Given the description of an element on the screen output the (x, y) to click on. 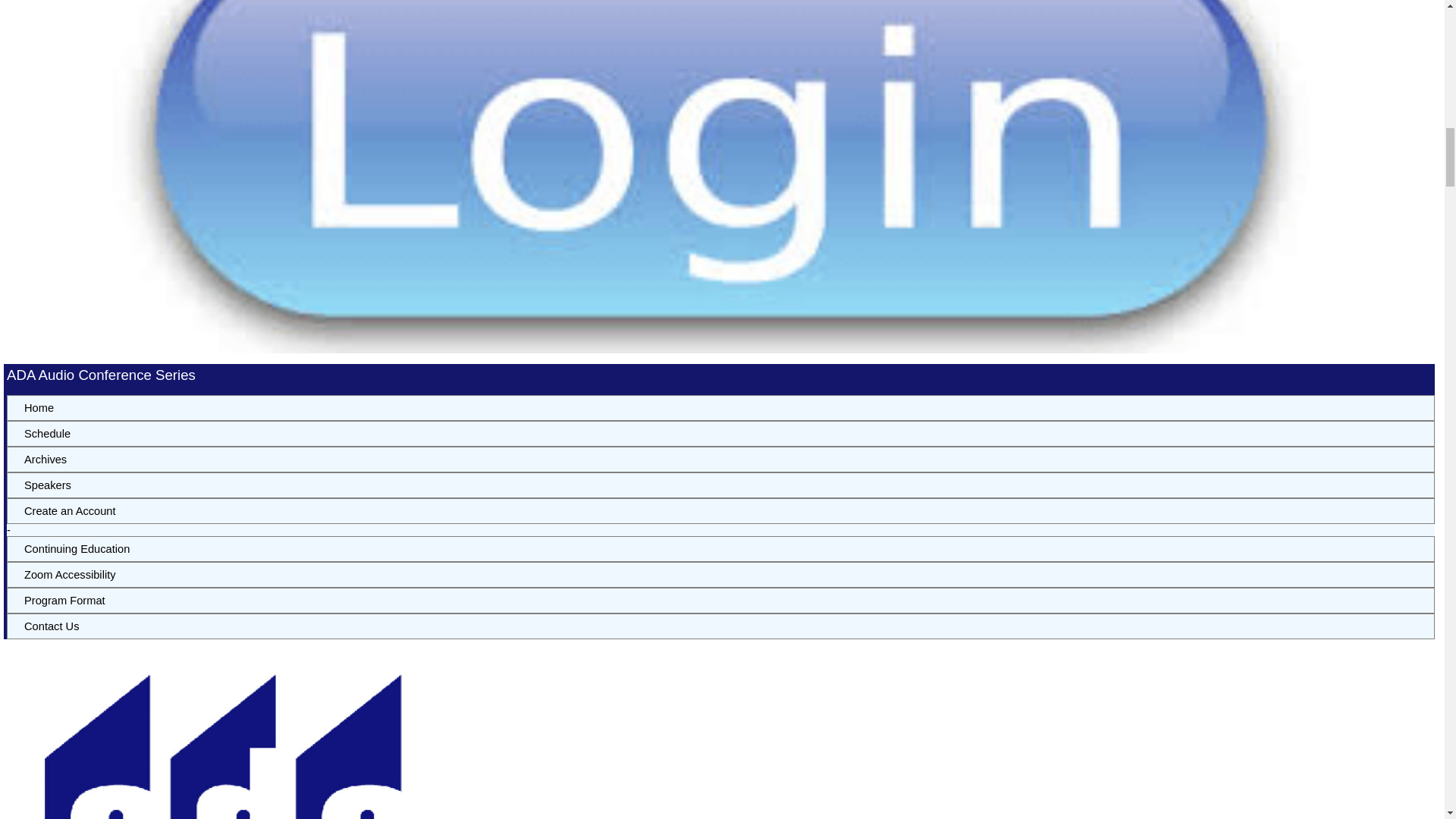
Speakers (720, 485)
Create an Account (720, 510)
Contact Us (720, 626)
Continuing Education (720, 549)
Schedule (720, 433)
Program Format (720, 600)
Zoom Accessibility (720, 574)
Home (720, 407)
Archives (720, 459)
